Given the description of an element on the screen output the (x, y) to click on. 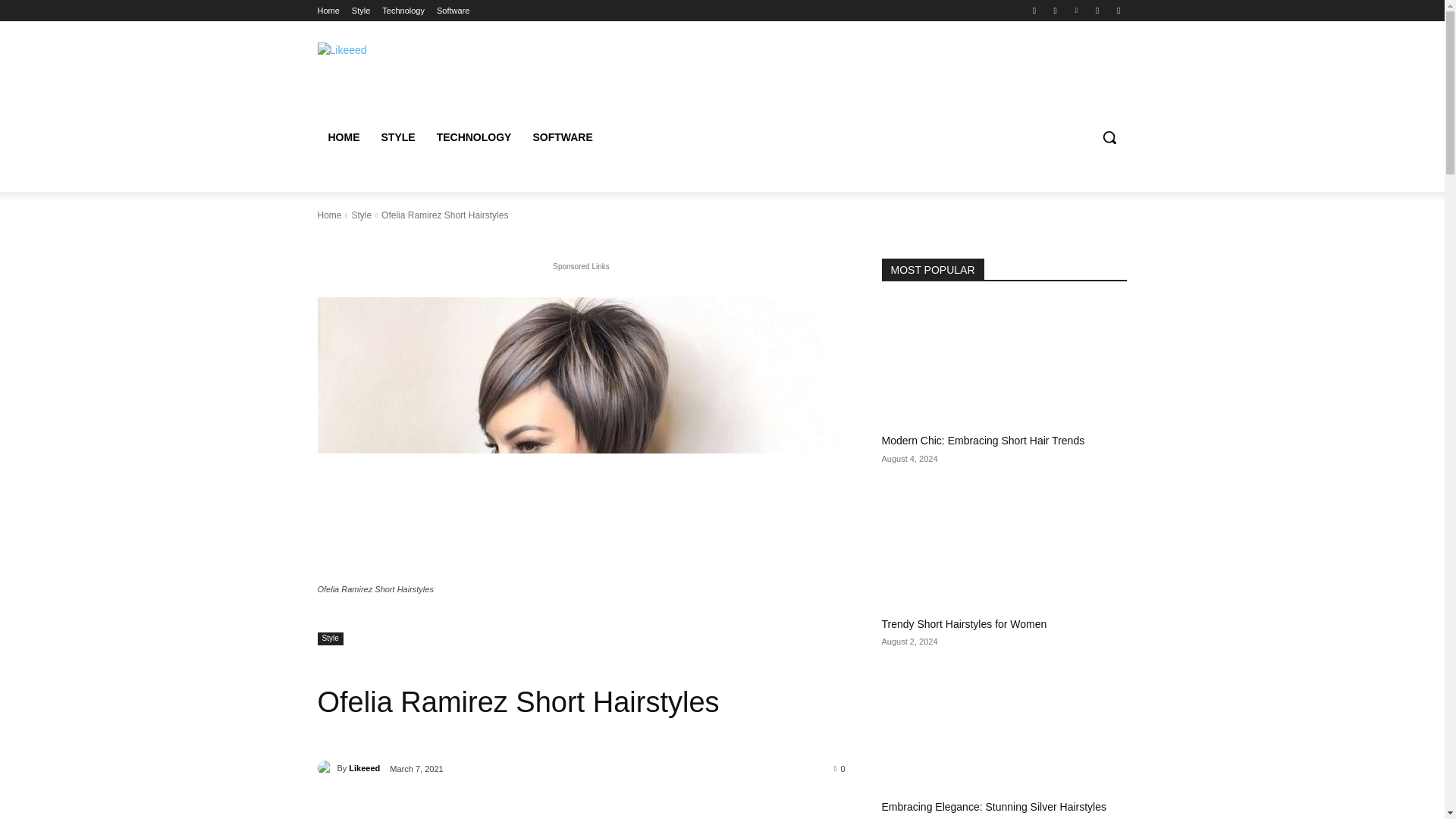
Style (360, 214)
SOFTWARE (561, 136)
STYLE (397, 136)
Instagram (1055, 9)
Home (328, 214)
Facebook (1034, 9)
Pinterest (1075, 9)
Software (452, 10)
Home (328, 10)
HOME (343, 136)
